Given the description of an element on the screen output the (x, y) to click on. 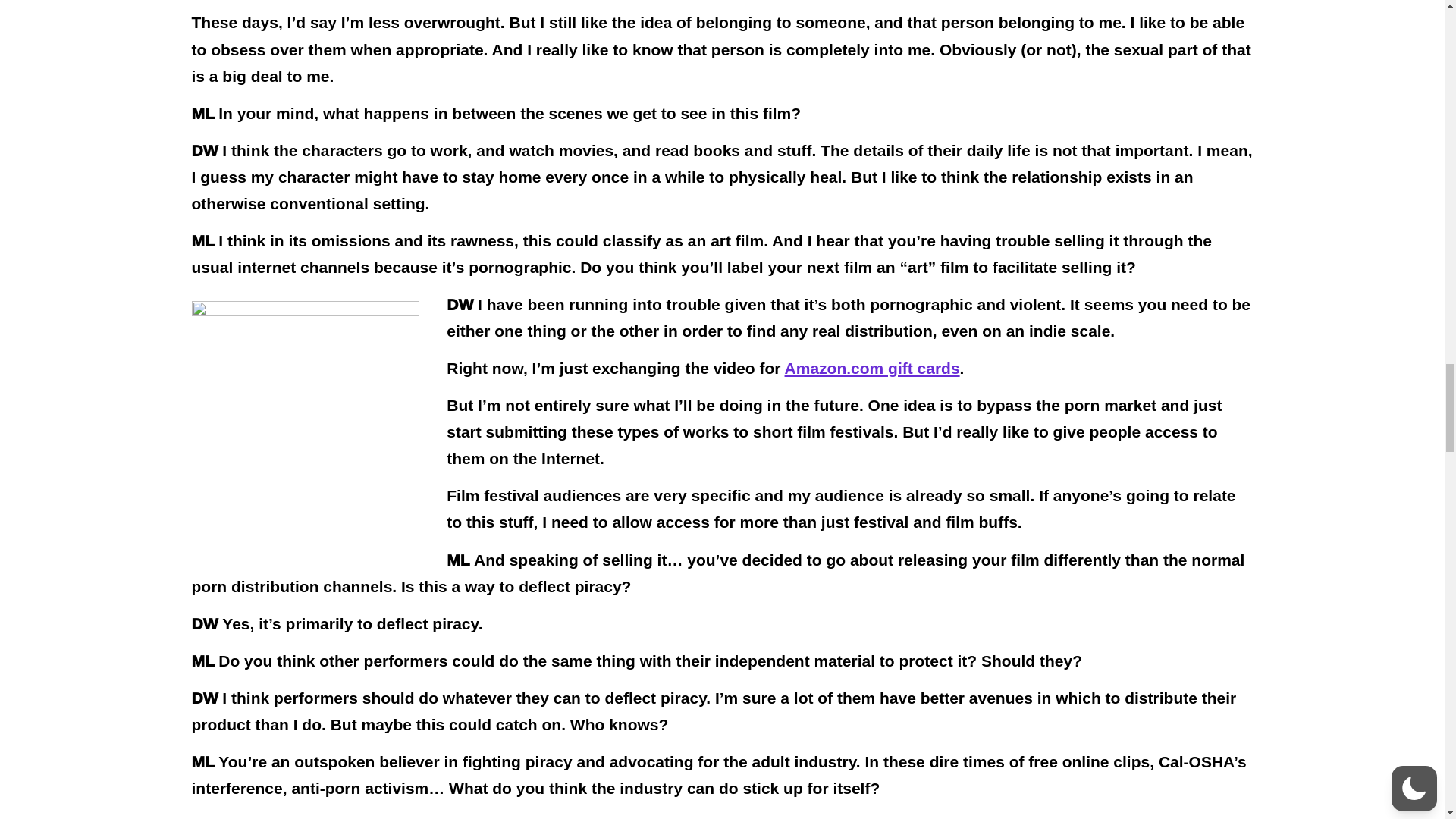
photo (304, 410)
